Given the description of an element on the screen output the (x, y) to click on. 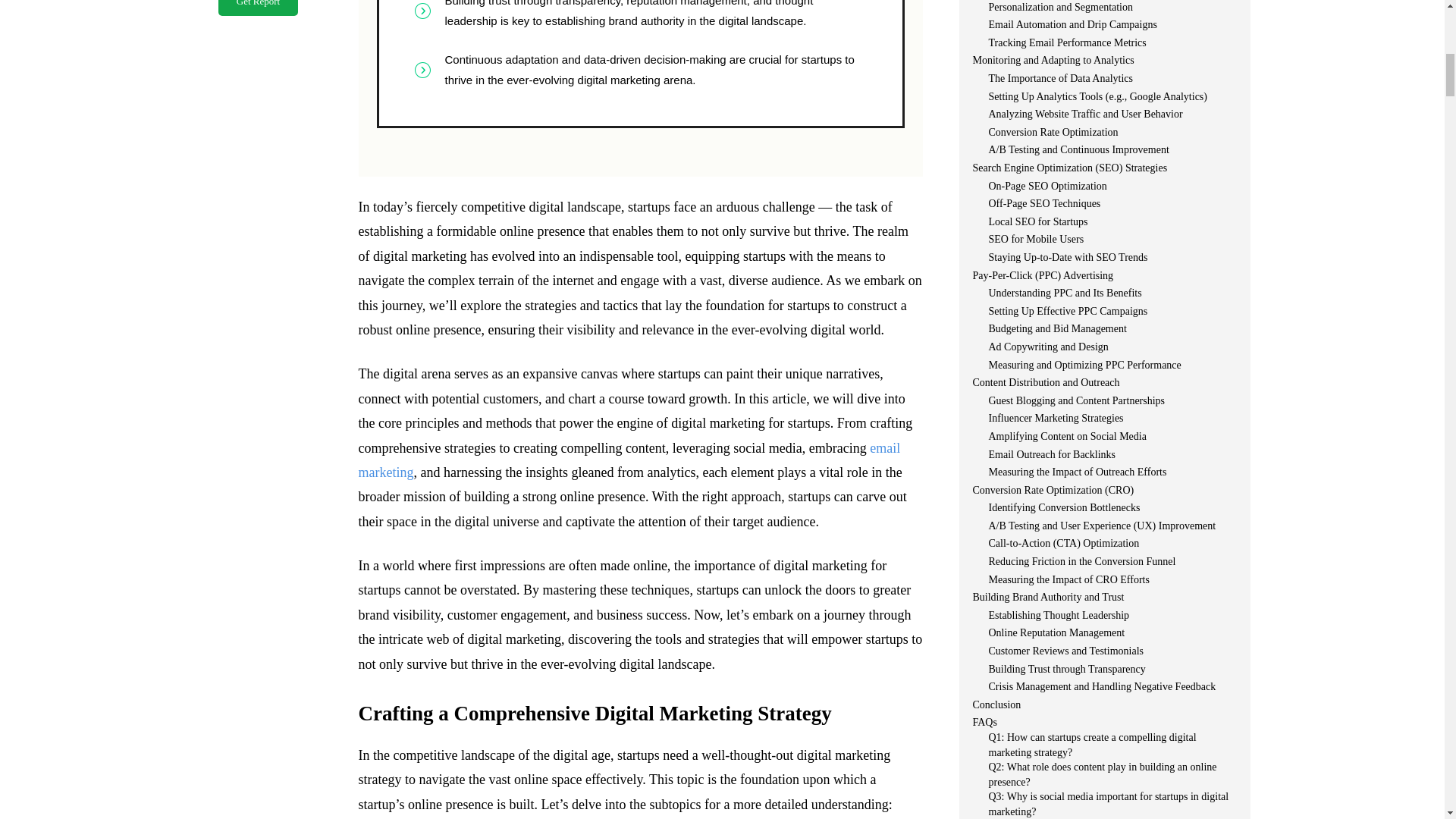
Get Report (258, 7)
email marketing (628, 459)
Get Report (258, 7)
